Given the description of an element on the screen output the (x, y) to click on. 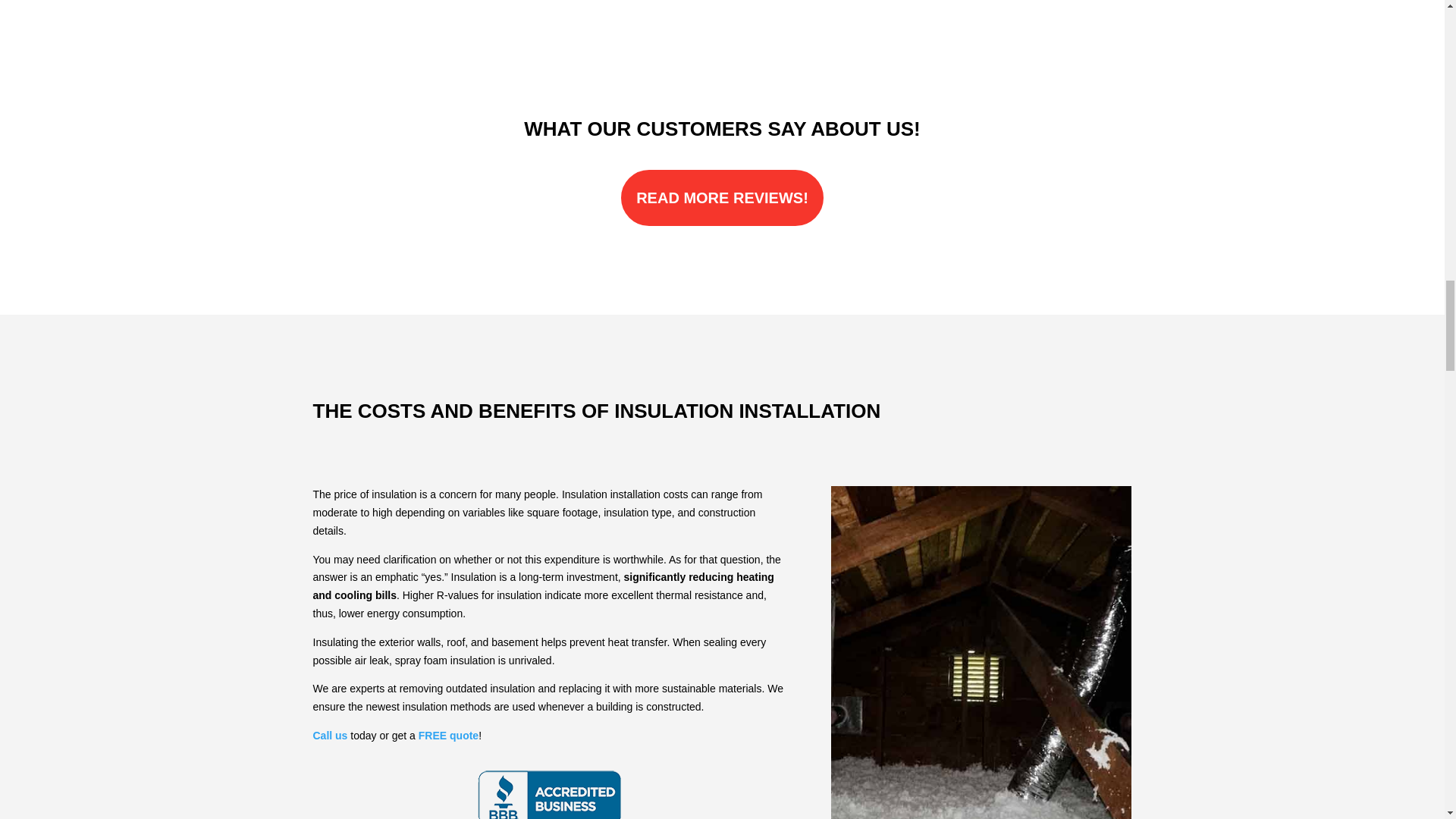
attic-insulation-top-up (981, 652)
bbb-accredited-business (550, 793)
